Given the description of an element on the screen output the (x, y) to click on. 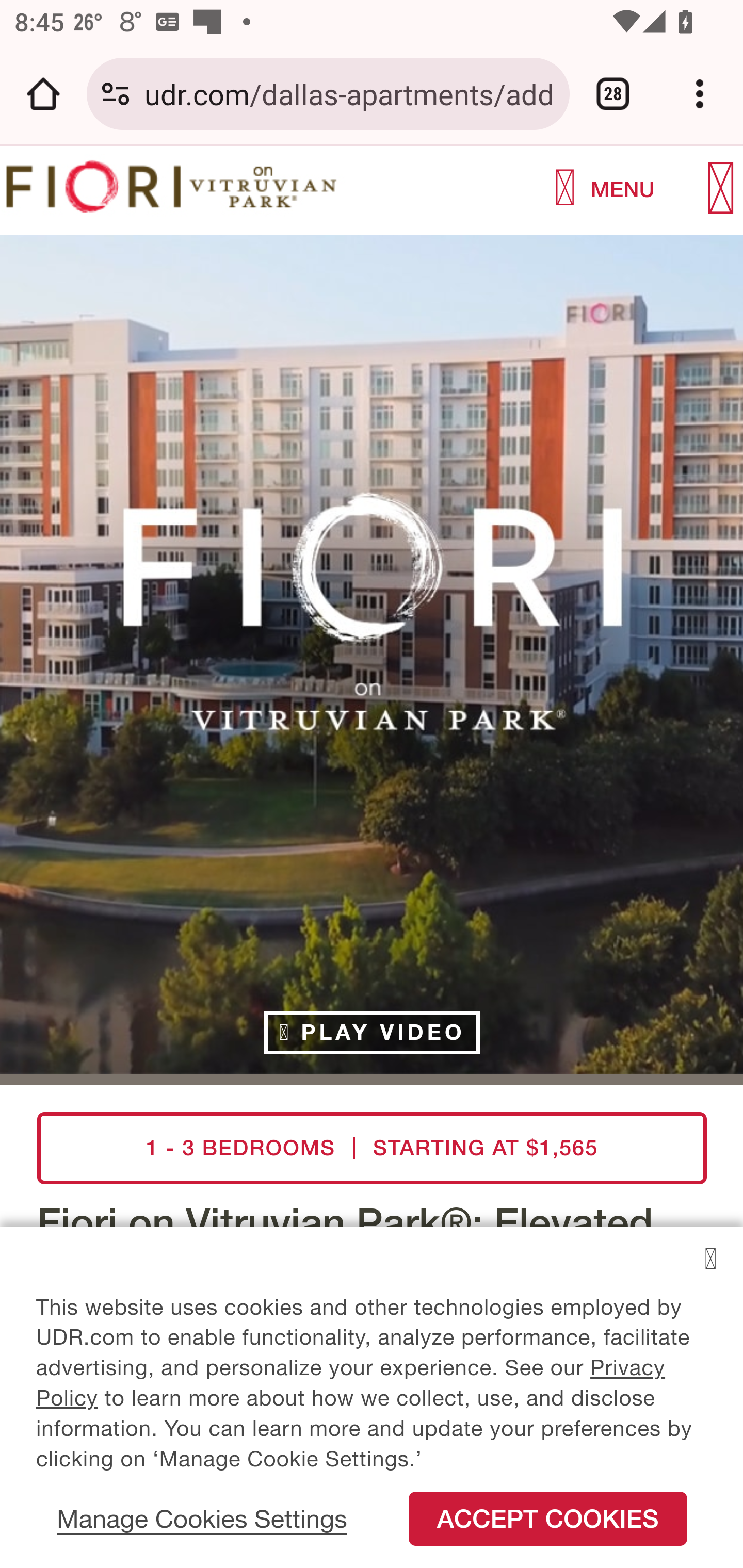
Open the home page (43, 93)
Connection is secure (115, 93)
Switch or close tabs (612, 93)
Customize and control Google Chrome (699, 93)
 MENU  MENU (656, 190)
community search (565, 188)
Close Cookie banner  (710, 1269)
Privacy Policy (351, 1392)
ACCEPT COOKIES (547, 1528)
Manage Cookies Settings (201, 1534)
